Given the description of an element on the screen output the (x, y) to click on. 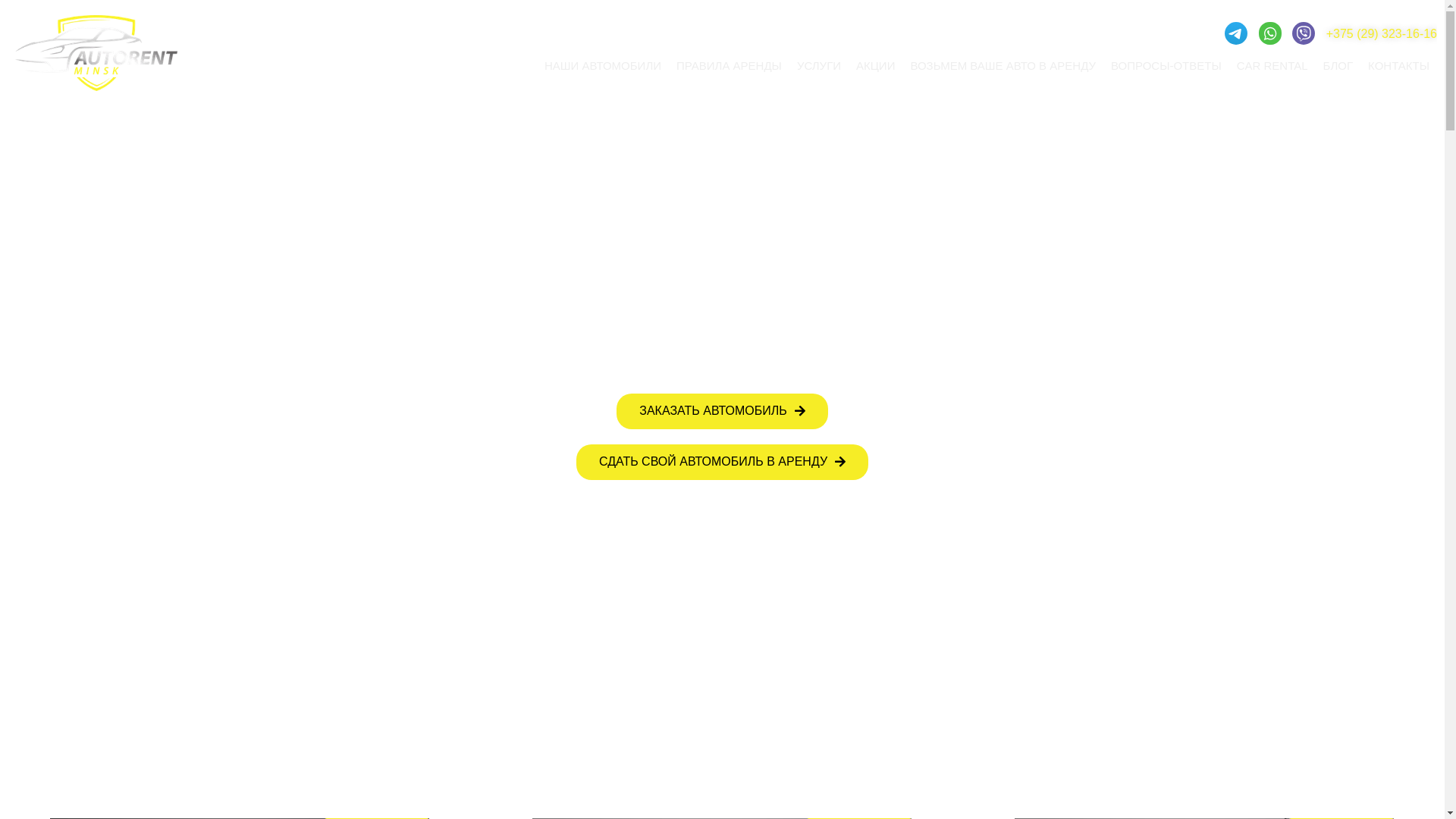
+375 (29) 323-16-16 Element type: text (1381, 33)
CAR RENTAL Element type: text (1272, 65)
